Given the description of an element on the screen output the (x, y) to click on. 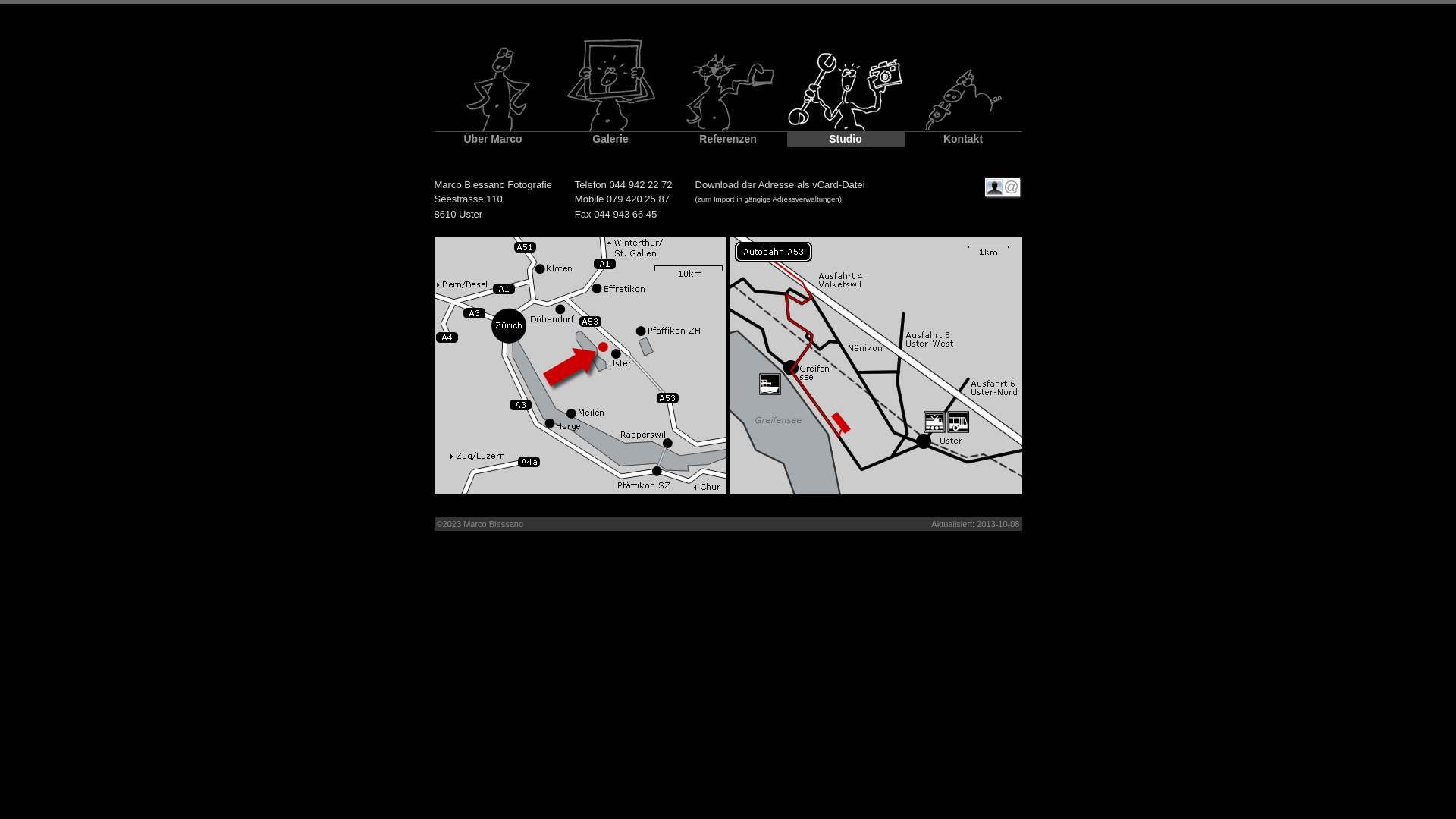
Galerie Element type: text (610, 133)
Studio Element type: text (845, 133)
Referenzen Element type: text (727, 133)
Kontakt Element type: text (962, 133)
